Given the description of an element on the screen output the (x, y) to click on. 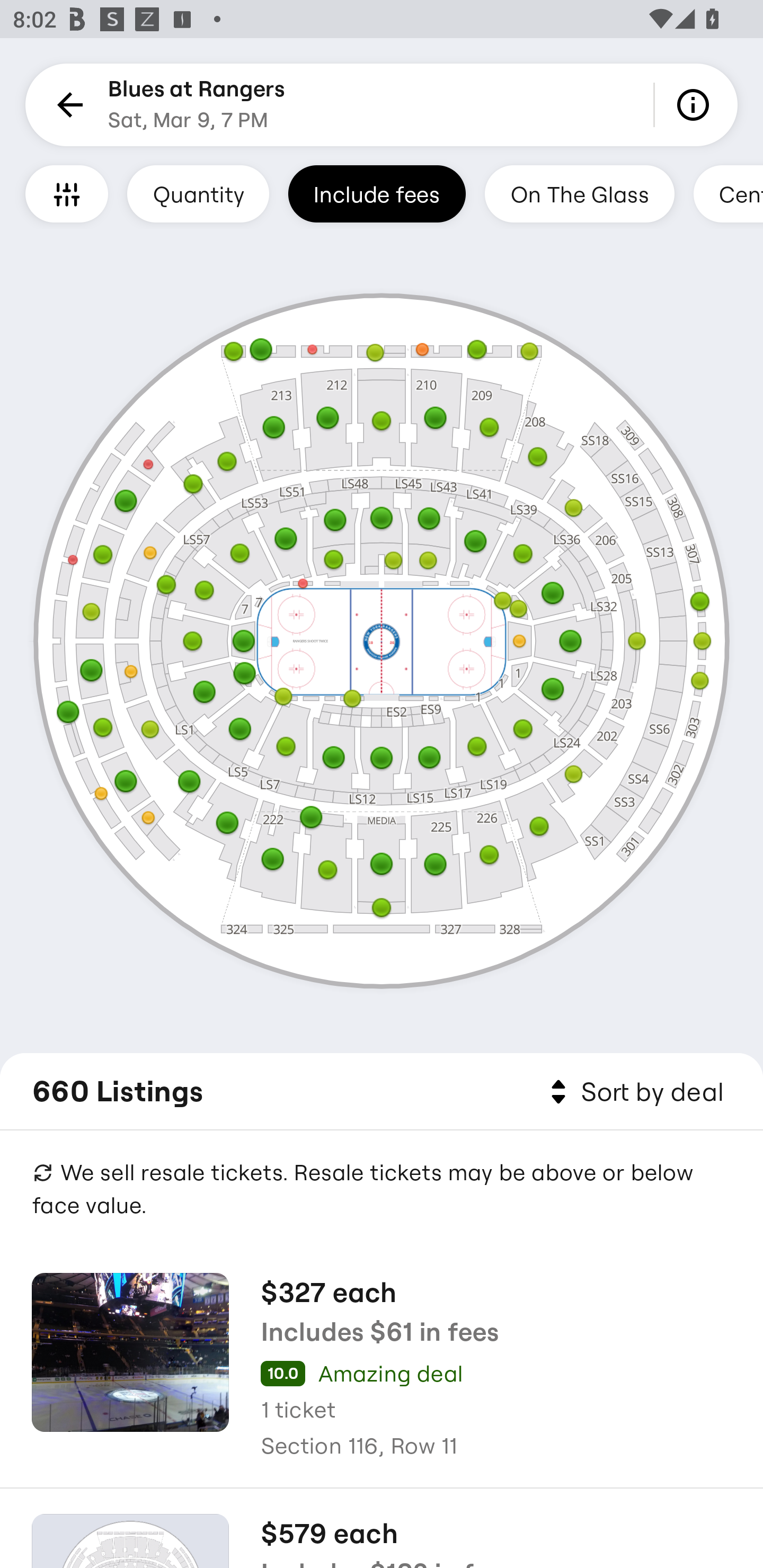
Back (66, 104)
Blues at Rangers Sat, Mar 9, 7 PM (196, 104)
Info (695, 104)
Filters and Accessible Seating (66, 193)
Quantity (198, 193)
Include fees (376, 193)
On The Glass (579, 193)
Sort by deal (633, 1091)
